Given the description of an element on the screen output the (x, y) to click on. 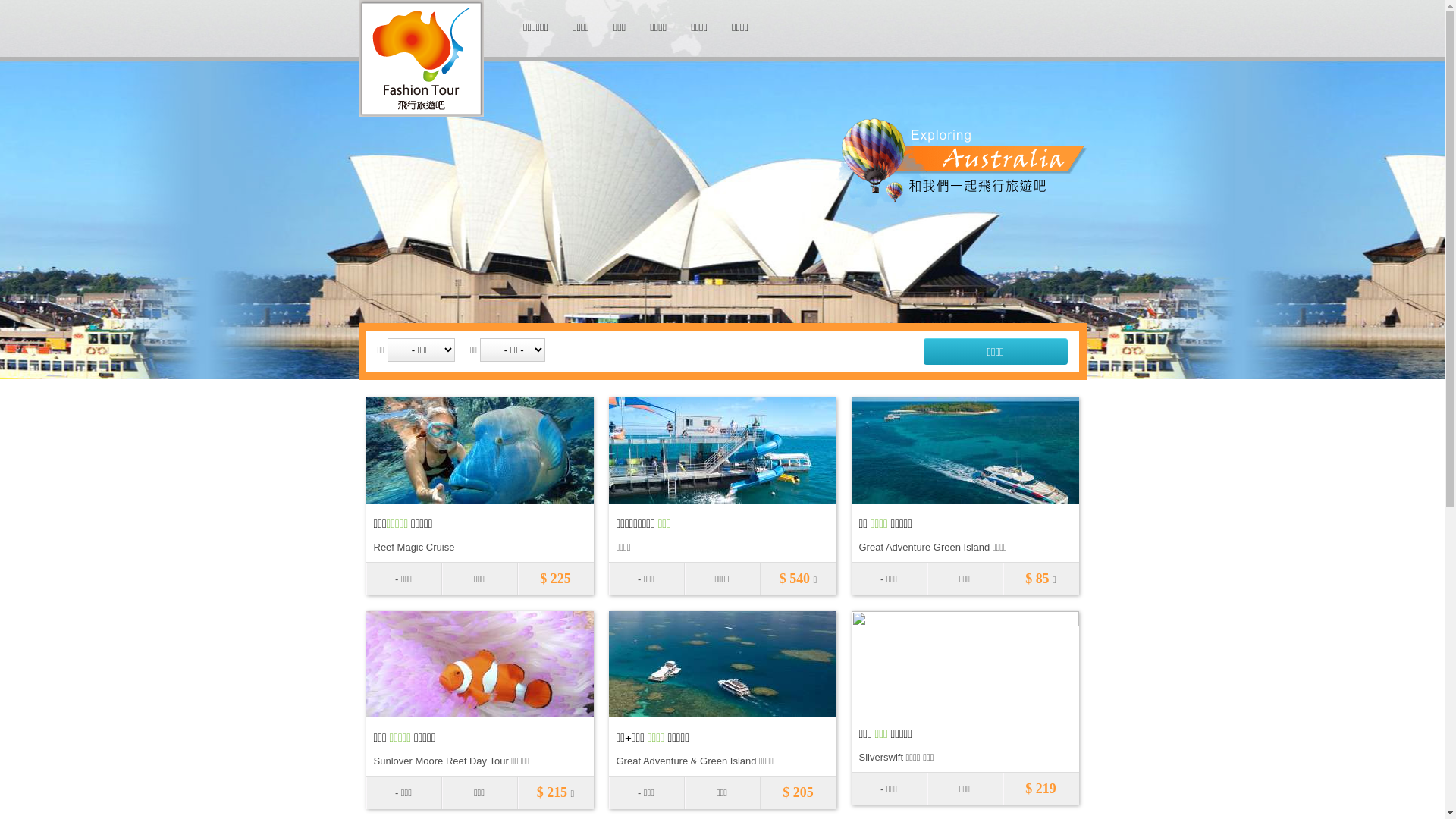
FB Element type: text (802, 22)
WB Element type: text (834, 22)
